Given the description of an element on the screen output the (x, y) to click on. 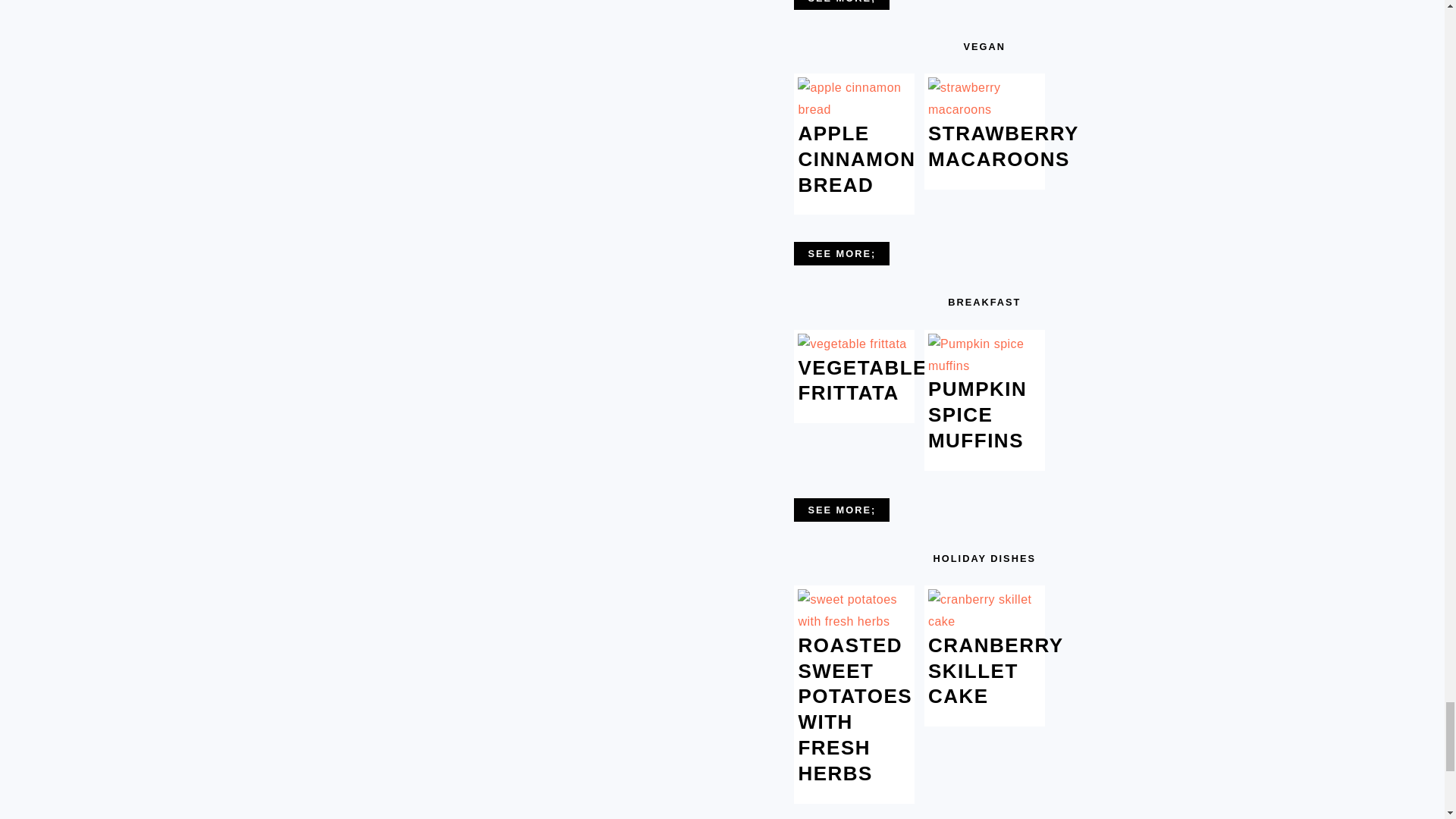
Strawberry Macaroons (984, 109)
Vegan (841, 253)
Desserts (841, 4)
Breakfast (841, 509)
Pumpkin Spice Muffins (984, 365)
Vegetable Frittata (851, 343)
Roasted Sweet Potatoes with Fresh Herbs (854, 621)
Apple Cinnamon Bread (854, 109)
